Given the description of an element on the screen output the (x, y) to click on. 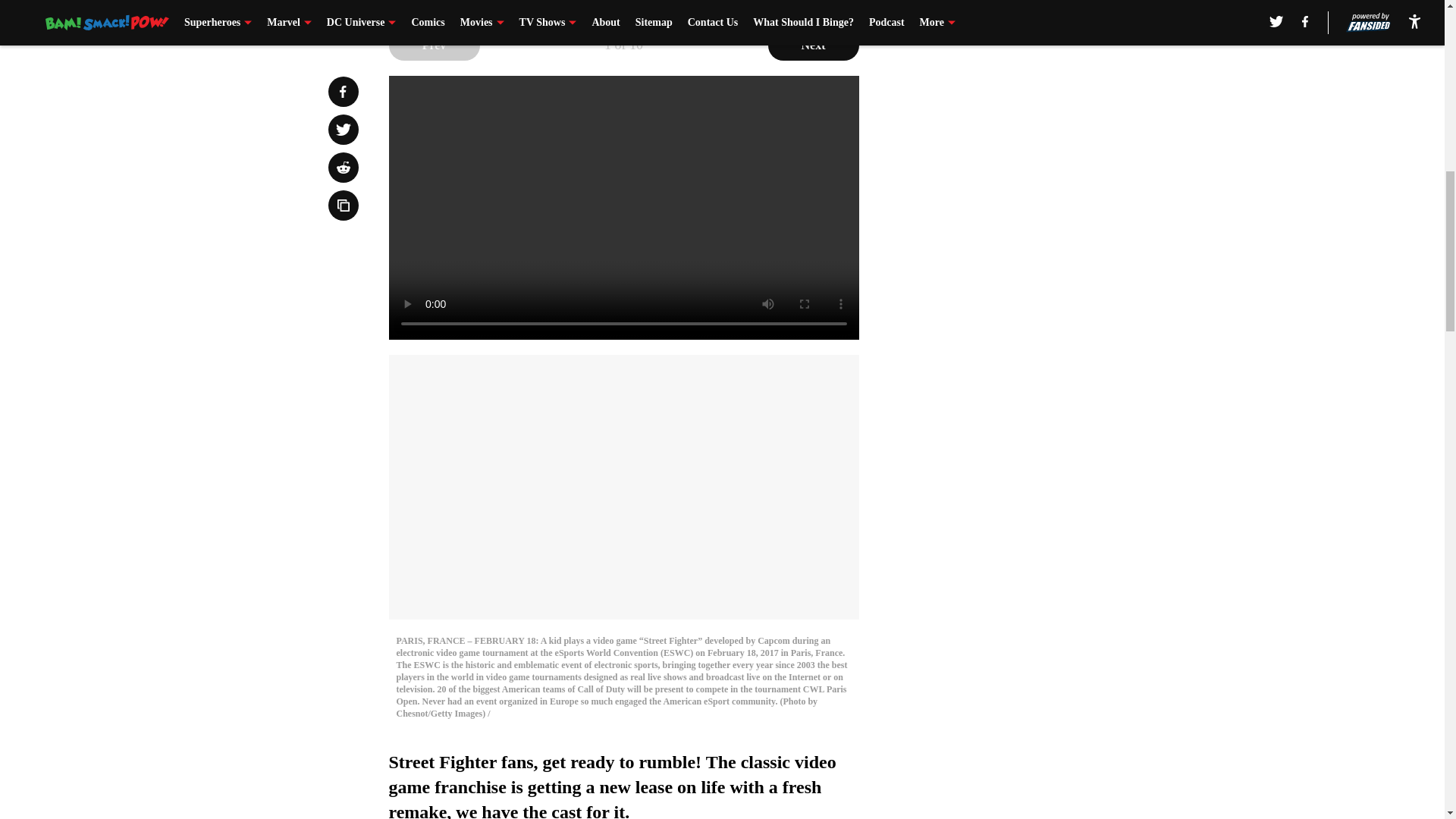
3rd party ad content (1047, 344)
3rd party ad content (1047, 125)
